Given the description of an element on the screen output the (x, y) to click on. 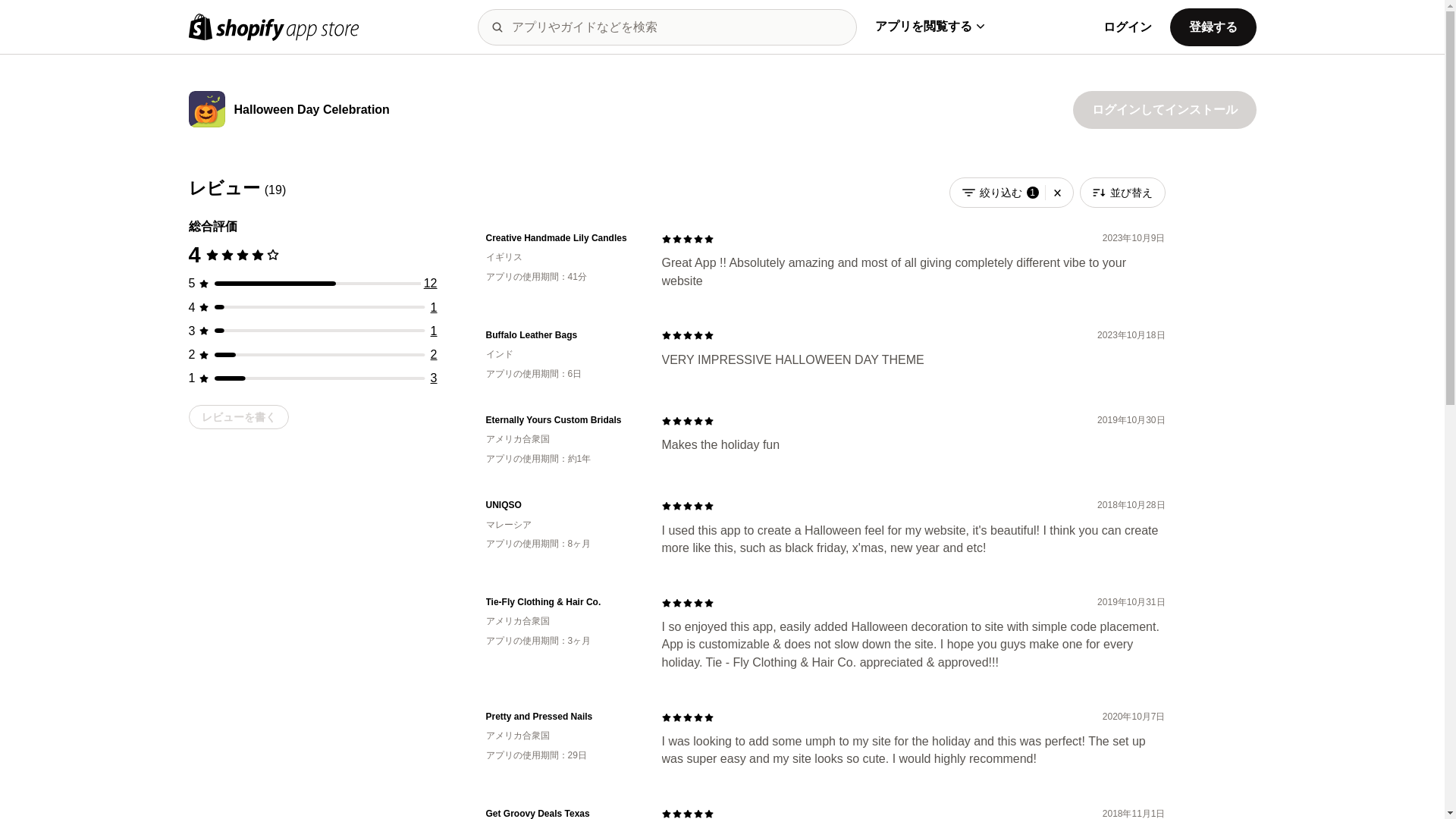
Pretty and Pressed Nails (560, 716)
3 (434, 377)
12 (430, 282)
1 (434, 330)
Get Groovy Deals Texas (560, 813)
UNIQSO (560, 504)
2 (434, 354)
Eternally Yours Custom Bridals (560, 420)
Halloween Day Celebration (310, 110)
Creative Handmade Lily Candles  (560, 237)
1 (434, 307)
Buffalo Leather Bags (560, 335)
